Given the description of an element on the screen output the (x, y) to click on. 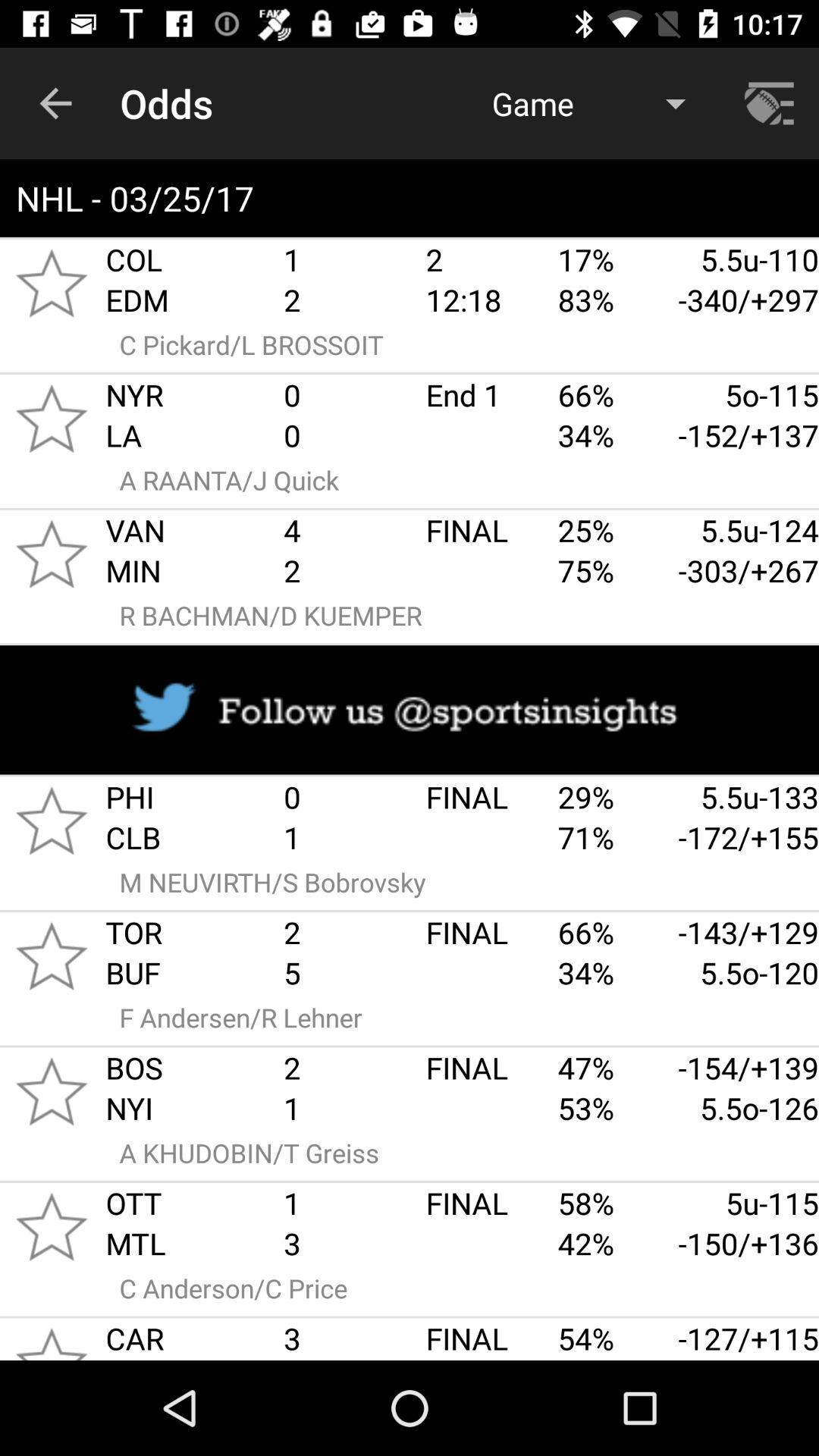
add to favorites (51, 820)
